Given the description of an element on the screen output the (x, y) to click on. 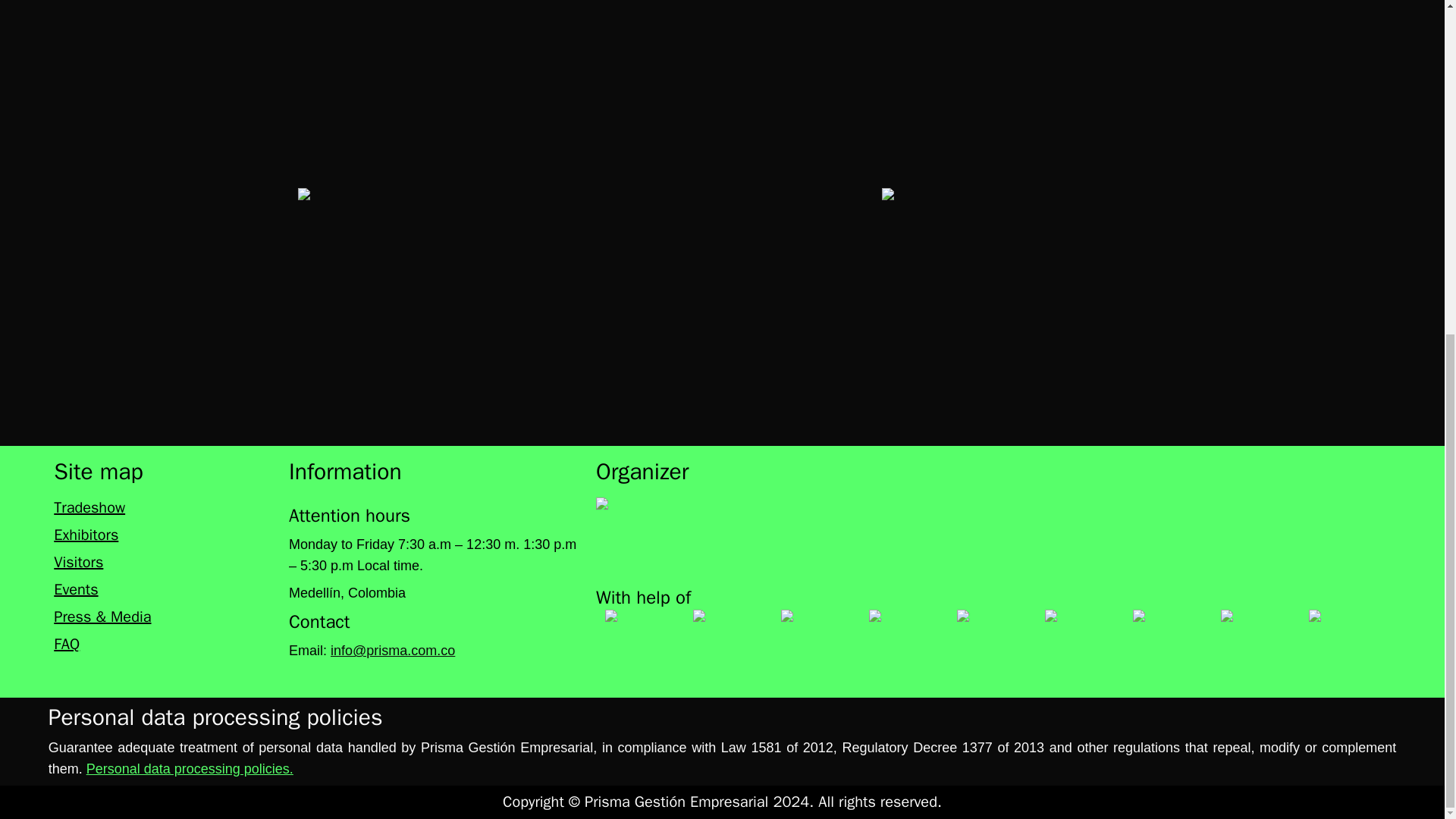
FAQ (161, 644)
Tradeshow (161, 507)
Events (161, 589)
Visitors (161, 562)
Exhibitors (161, 535)
